Given the description of an element on the screen output the (x, y) to click on. 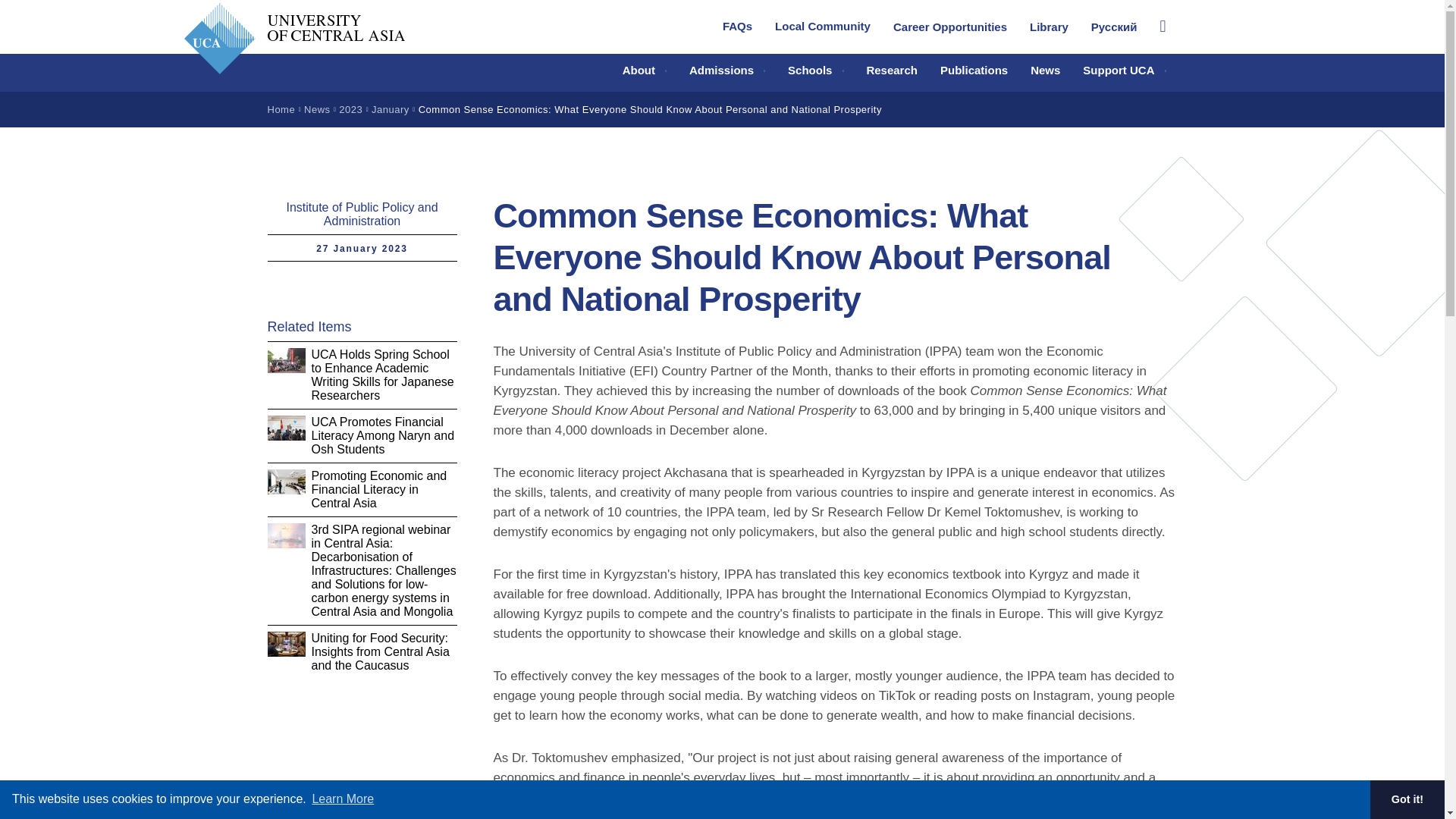
Library (1048, 25)
Admissions (727, 70)
Local Community (822, 25)
Career Opportunities (949, 25)
Schools (815, 70)
FAQs (736, 25)
About (644, 70)
Learn More (341, 798)
